Given the description of an element on the screen output the (x, y) to click on. 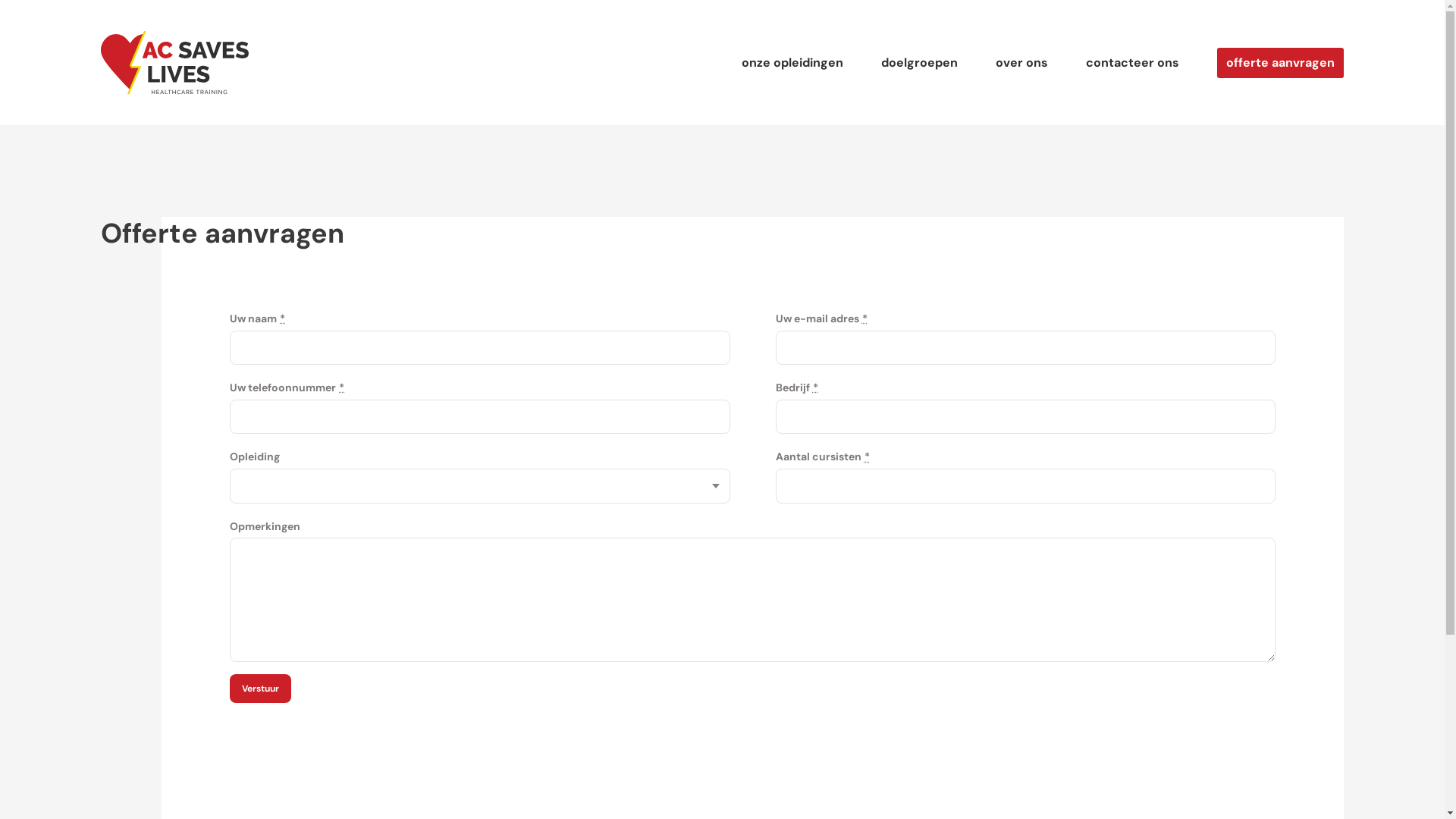
contacteer ons Element type: text (1132, 62)
Verstuur Element type: text (260, 688)
onze opleidingen Element type: text (792, 62)
over ons Element type: text (1021, 62)
offerte aanvragen Element type: text (1280, 62)
doelgroepen Element type: text (919, 62)
